Given the description of an element on the screen output the (x, y) to click on. 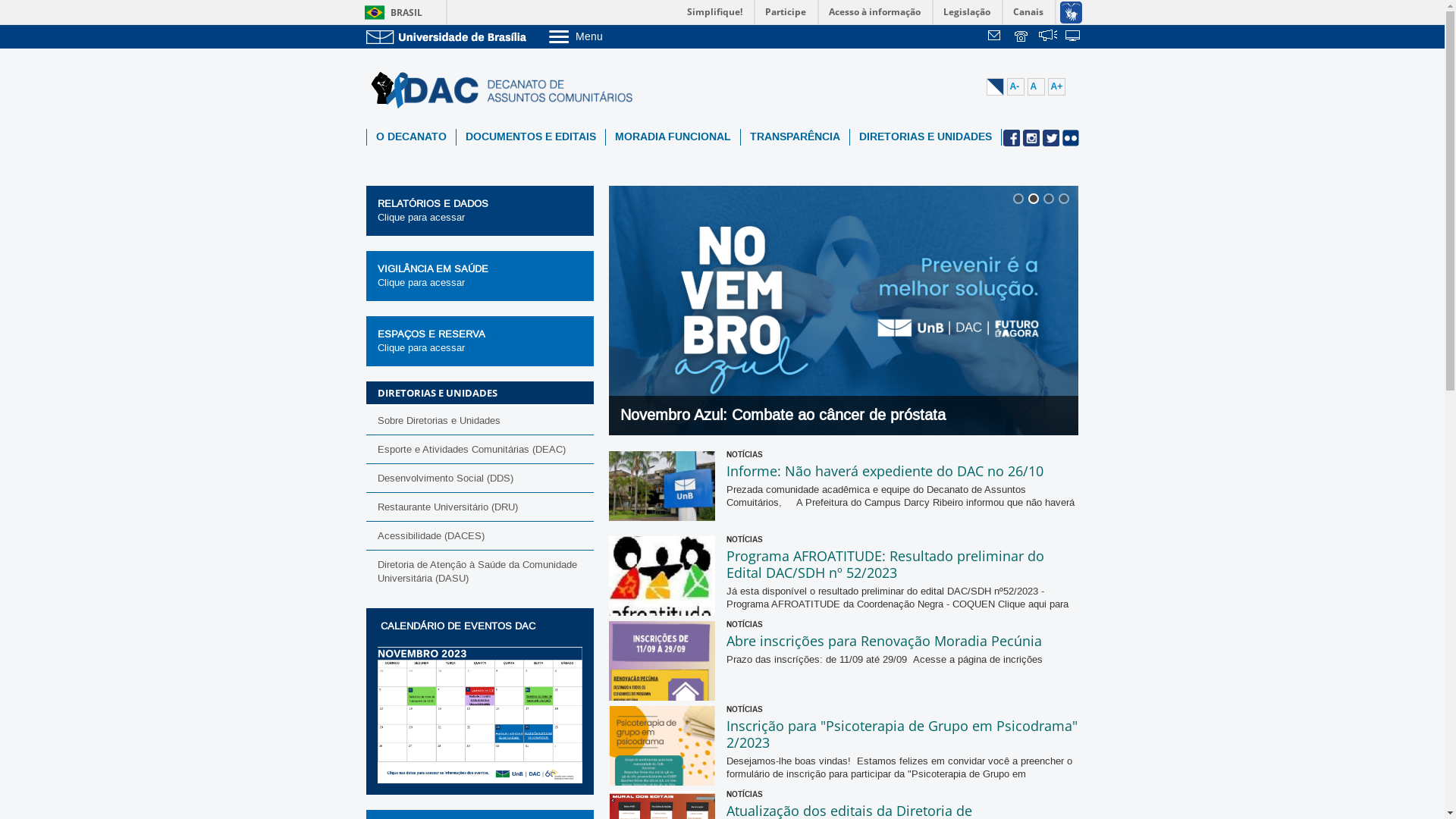
Acessibilidade (DACES) Element type: text (479, 535)
Sobre Diretorias e Unidades Element type: text (479, 420)
A Element type: text (1035, 86)
Desenvolvimento Social (DDS) Element type: text (479, 477)
Fala.BR Element type: hover (1047, 37)
Webmail Element type: hover (996, 37)
A- Element type: text (1015, 86)
  Element type: text (1022, 37)
A+ Element type: text (1056, 86)
BRASIL Element type: text (389, 12)
Sistemas Element type: hover (1073, 37)
Telefones da UnB Element type: hover (1022, 37)
DIRETORIAS E UNIDADES Element type: text (924, 136)
DOCUMENTOS E EDITAIS Element type: text (530, 136)
Clique para acessar Element type: text (420, 217)
  Element type: text (1047, 37)
O DECANATO Element type: text (411, 136)
  Element type: text (996, 37)
MORADIA FUNCIONAL Element type: text (672, 136)
  Element type: text (1073, 37)
Clique para acessar Element type: text (420, 282)
Menu Element type: text (613, 35)
Ir para o Portal da UnB Element type: hover (448, 36)
